Given the description of an element on the screen output the (x, y) to click on. 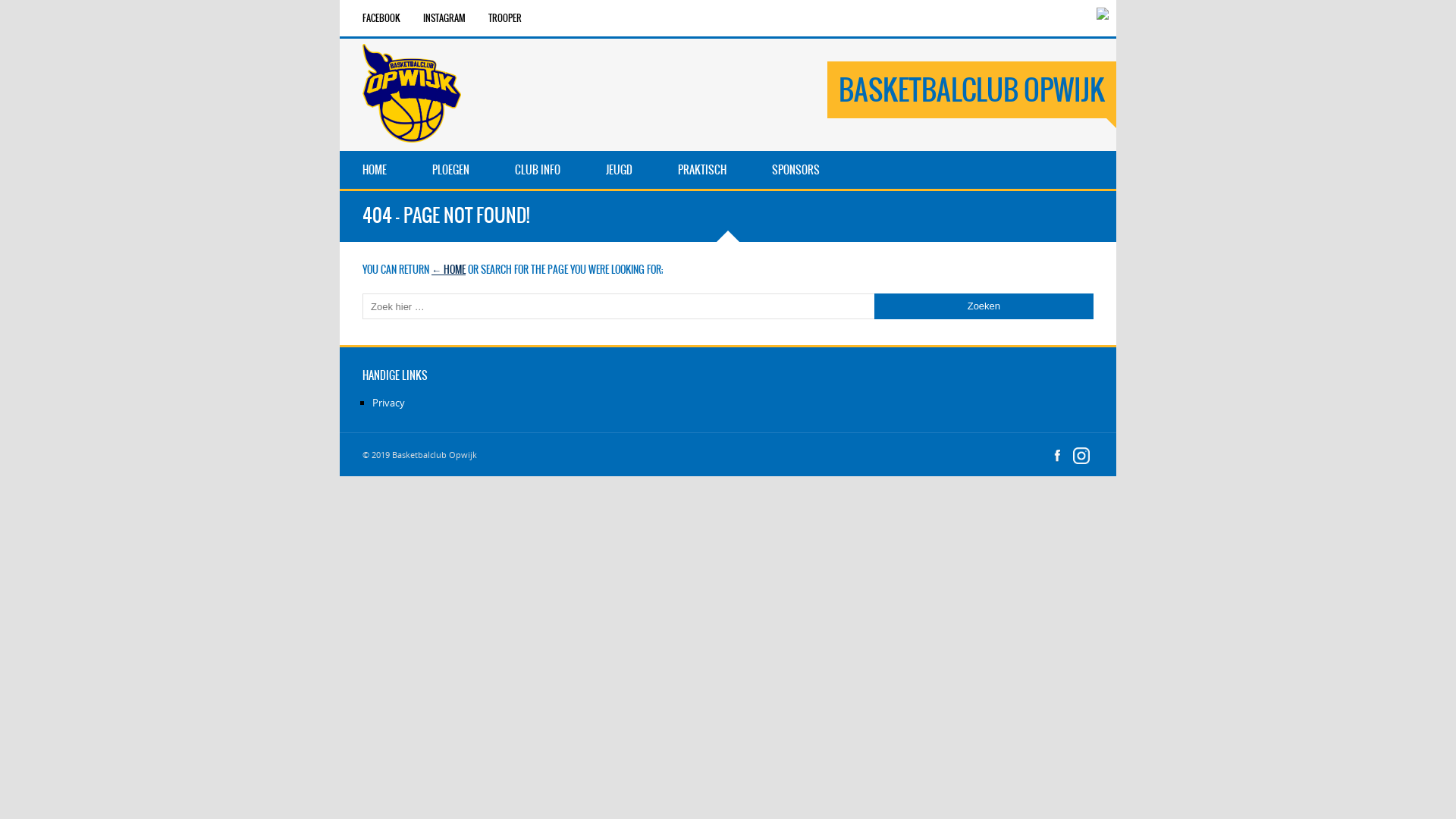
Privacy Element type: text (388, 402)
CLUB INFO Element type: text (537, 169)
FACEBOOK Element type: text (381, 18)
TROOPER Element type: text (504, 18)
Zoeken Element type: text (983, 306)
SPONSORS Element type: text (795, 169)
PRAKTISCH Element type: text (702, 169)
JEUGD Element type: text (619, 169)
HOME Element type: text (374, 169)
PLOEGEN Element type: text (450, 169)
INSTAGRAM Element type: text (443, 18)
